Given the description of an element on the screen output the (x, y) to click on. 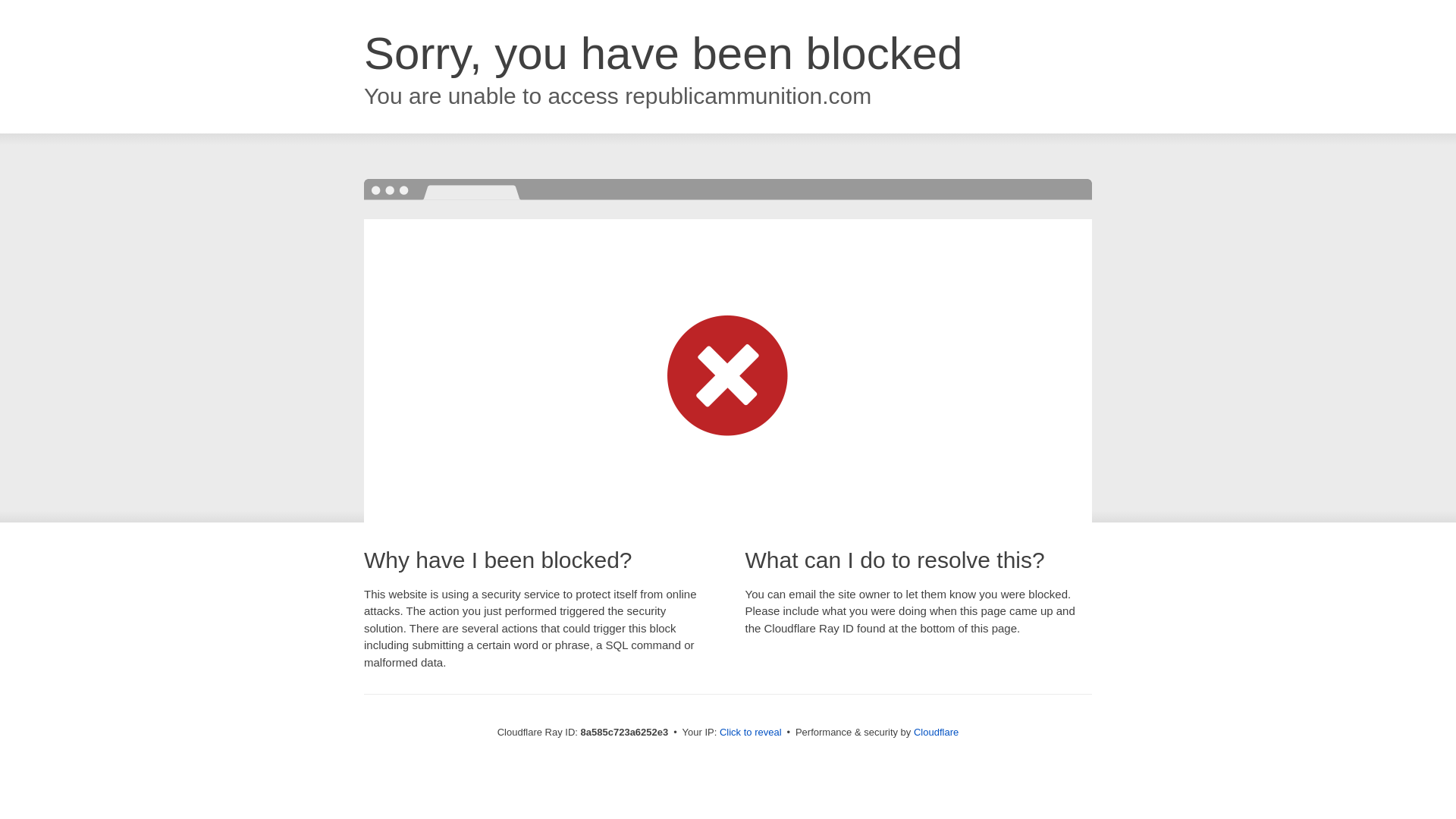
Click to reveal (750, 732)
Cloudflare (936, 731)
